Given the description of an element on the screen output the (x, y) to click on. 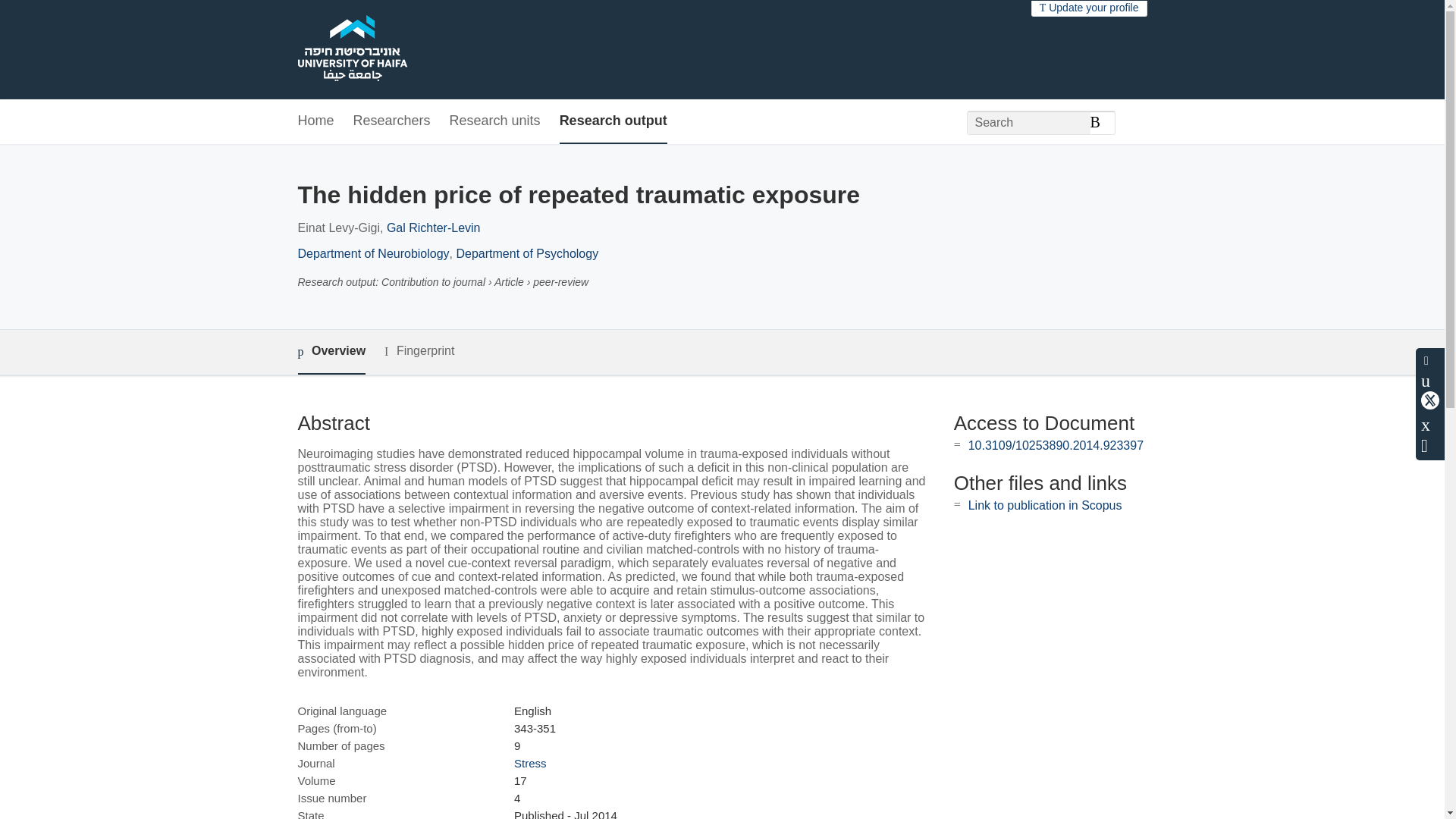
Department of Psychology (527, 253)
Researchers (391, 121)
Gal Richter-Levin (433, 227)
Fingerprint (419, 351)
Stress (530, 762)
Department of Neurobiology (372, 253)
Overview (331, 352)
University of Haifa Home (351, 49)
Research units (494, 121)
Link to publication in Scopus (1045, 504)
